Given the description of an element on the screen output the (x, y) to click on. 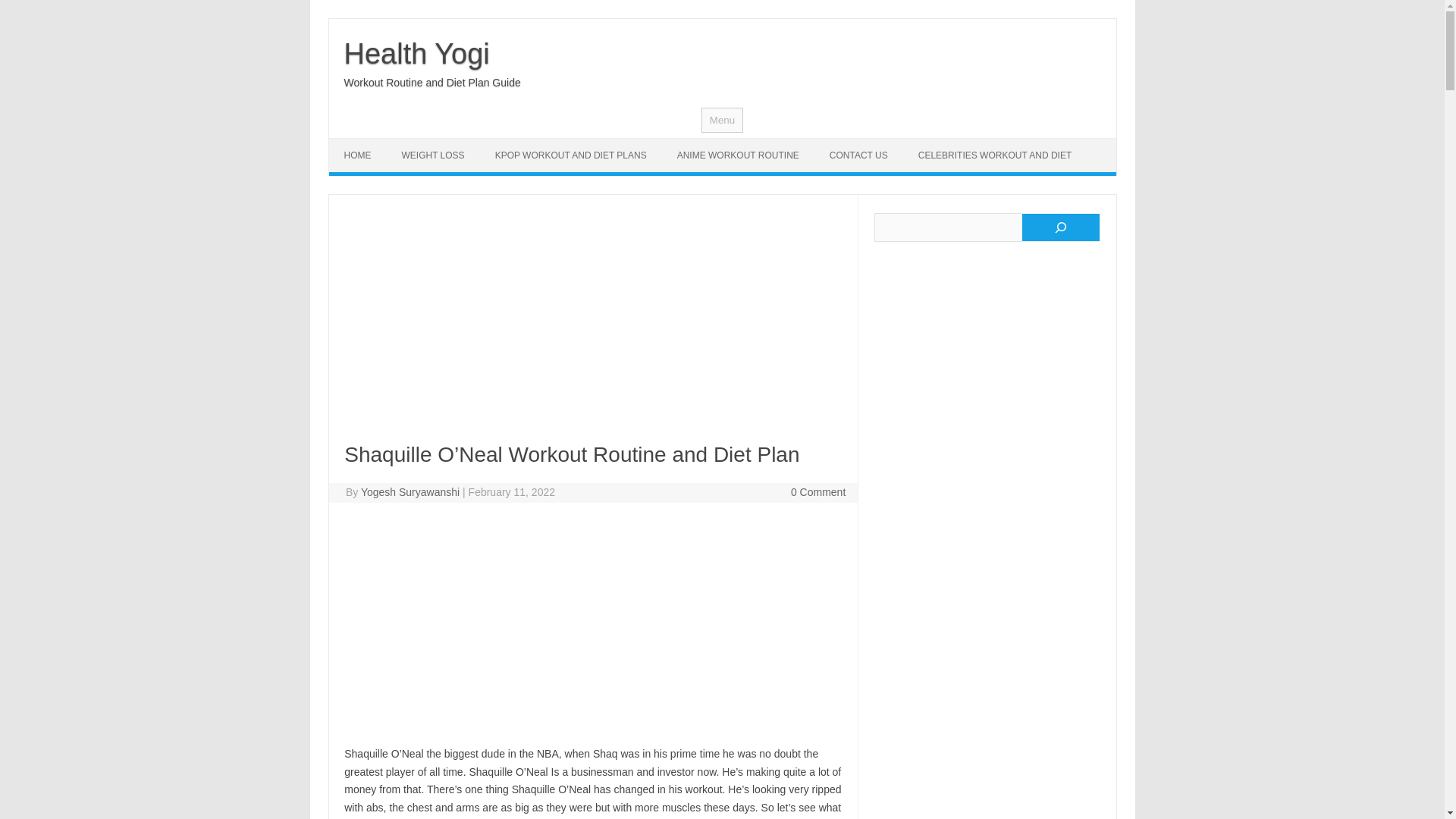
Menu (721, 119)
ANIME WORKOUT ROUTINE (737, 154)
Workout Routine and Diet Plan Guide (432, 82)
Posts by Yogesh Suryawanshi (410, 491)
Advertisement (592, 623)
Health Yogi (416, 53)
HOME (358, 154)
Health Yogi (416, 53)
0 Comment (817, 491)
